Given the description of an element on the screen output the (x, y) to click on. 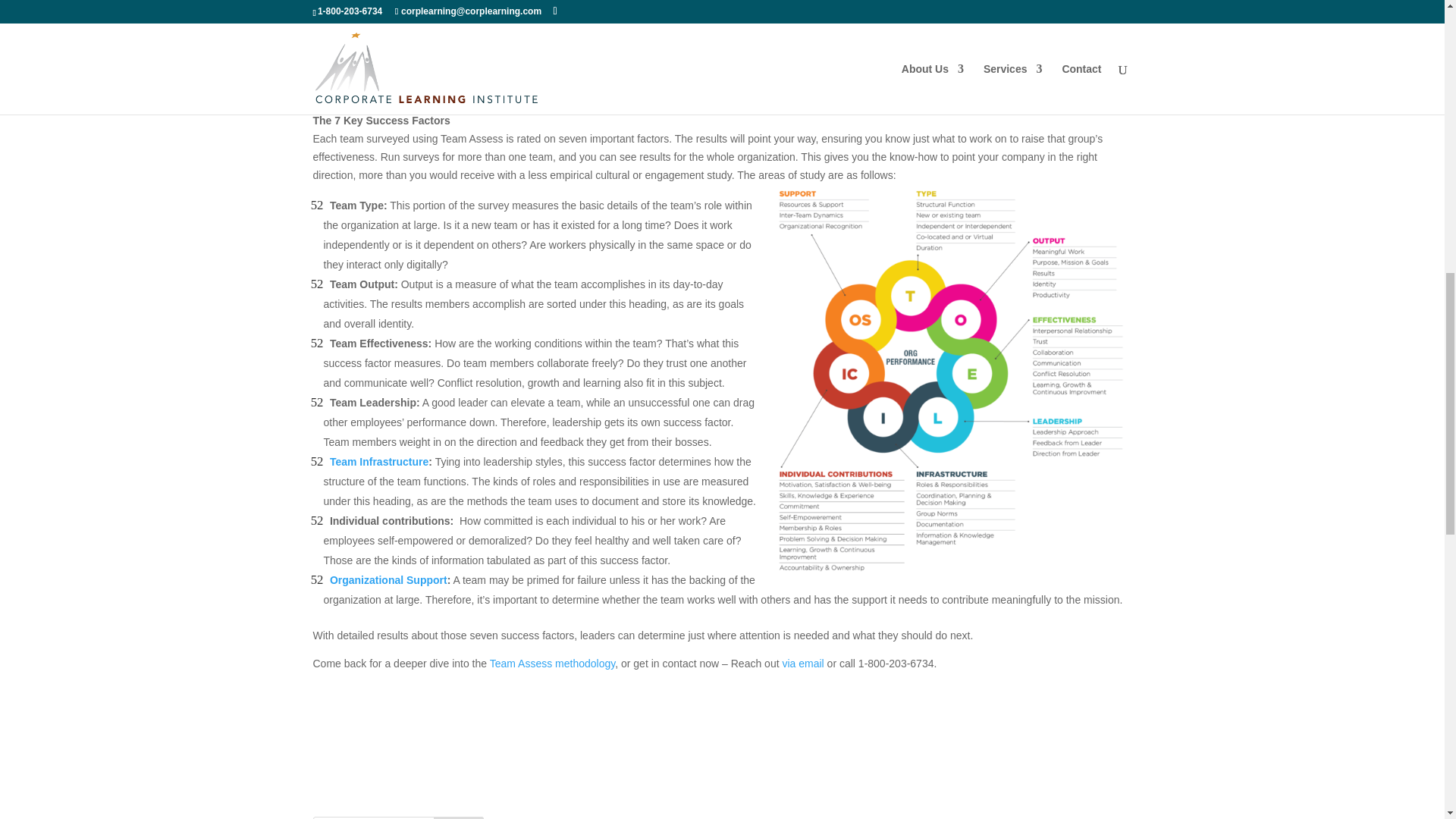
Search (458, 817)
via email (802, 663)
Team Infrastructure (379, 461)
Organizational Support (388, 580)
Team Assess methodology (552, 663)
Search (458, 817)
